Given the description of an element on the screen output the (x, y) to click on. 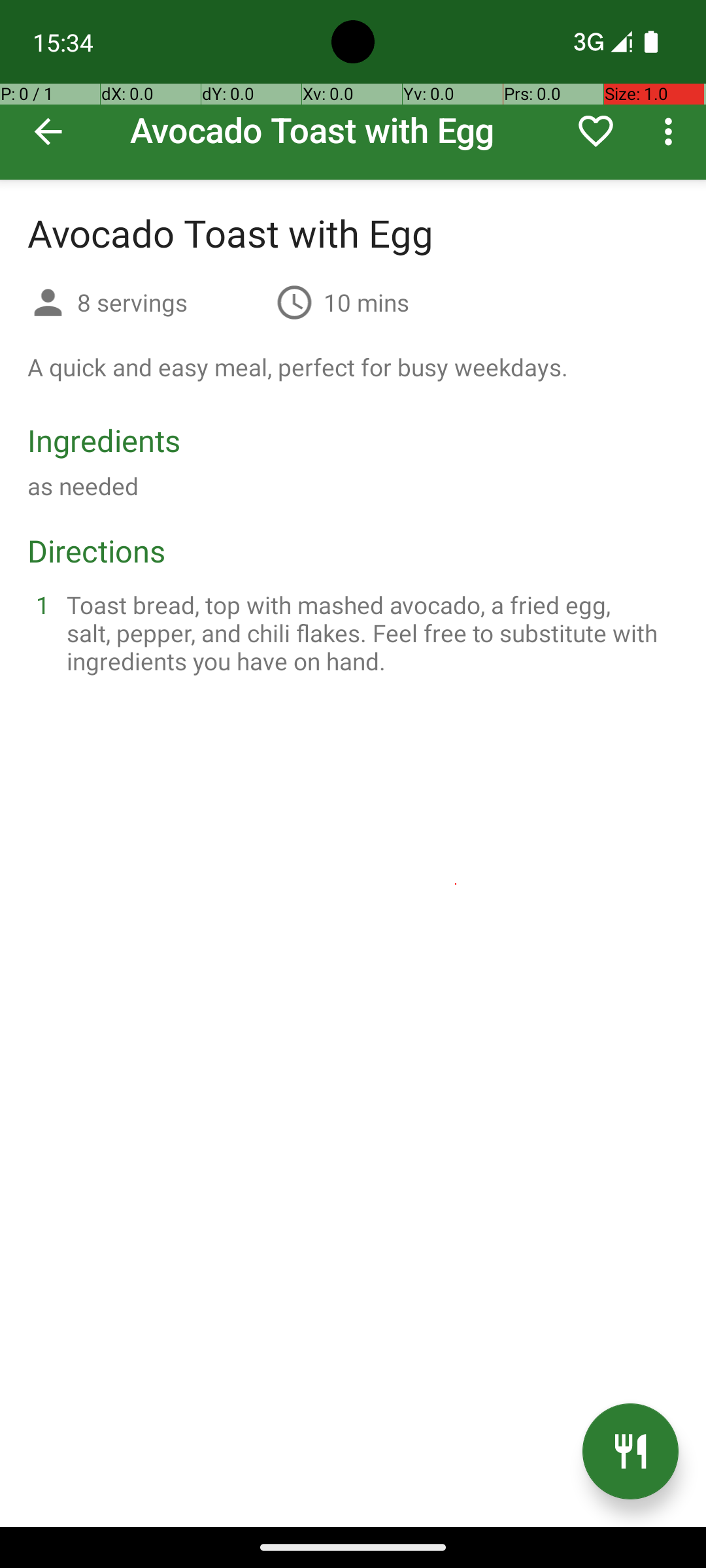
as needed Element type: android.widget.TextView (82, 485)
Toast bread, top with mashed avocado, a fried egg, salt, pepper, and chili flakes. Feel free to substitute with ingredients you have on hand. Element type: android.widget.TextView (368, 632)
